Given the description of an element on the screen output the (x, y) to click on. 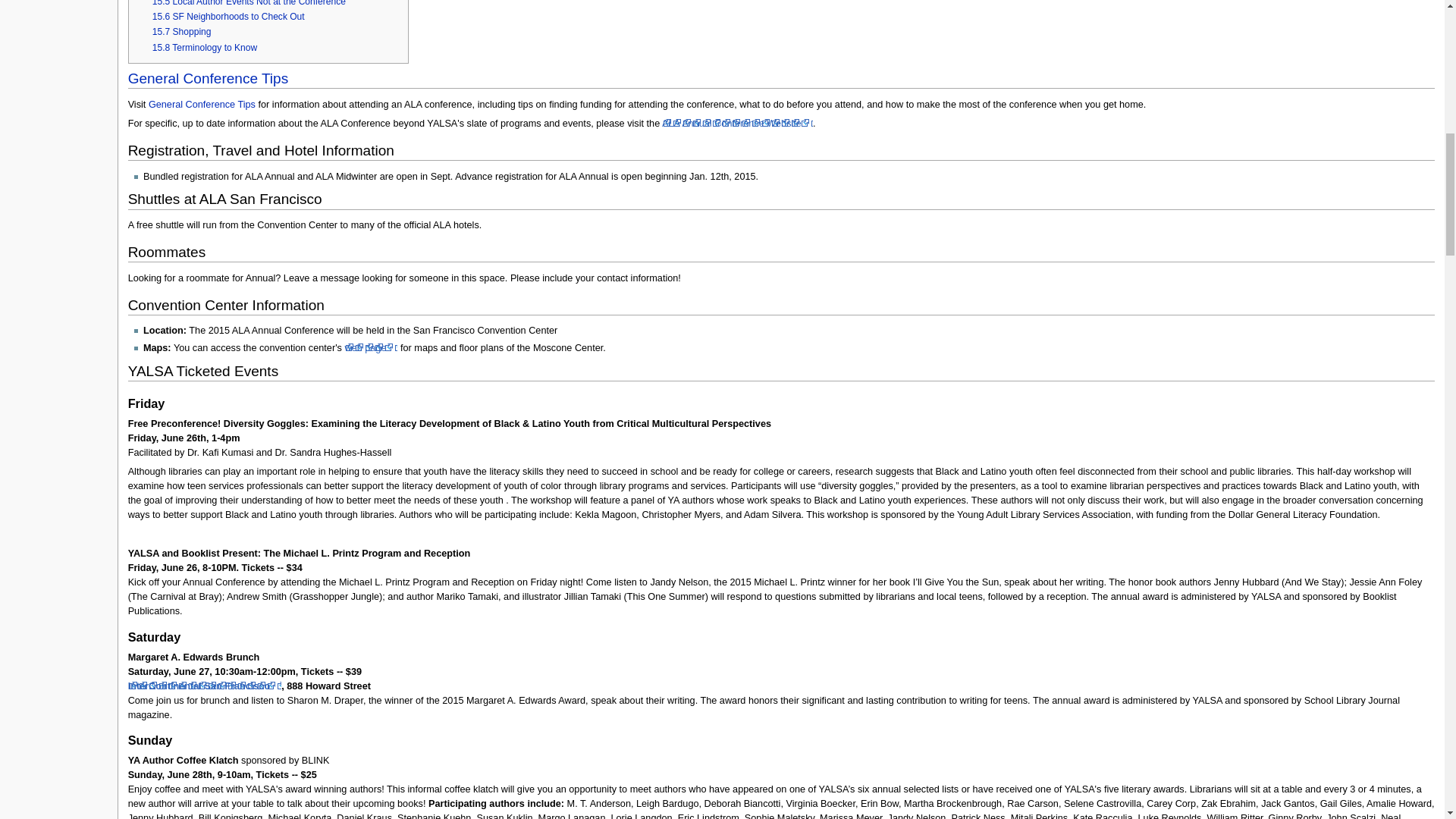
General Conference Tips (208, 78)
General Conference Tips (202, 104)
